Given the description of an element on the screen output the (x, y) to click on. 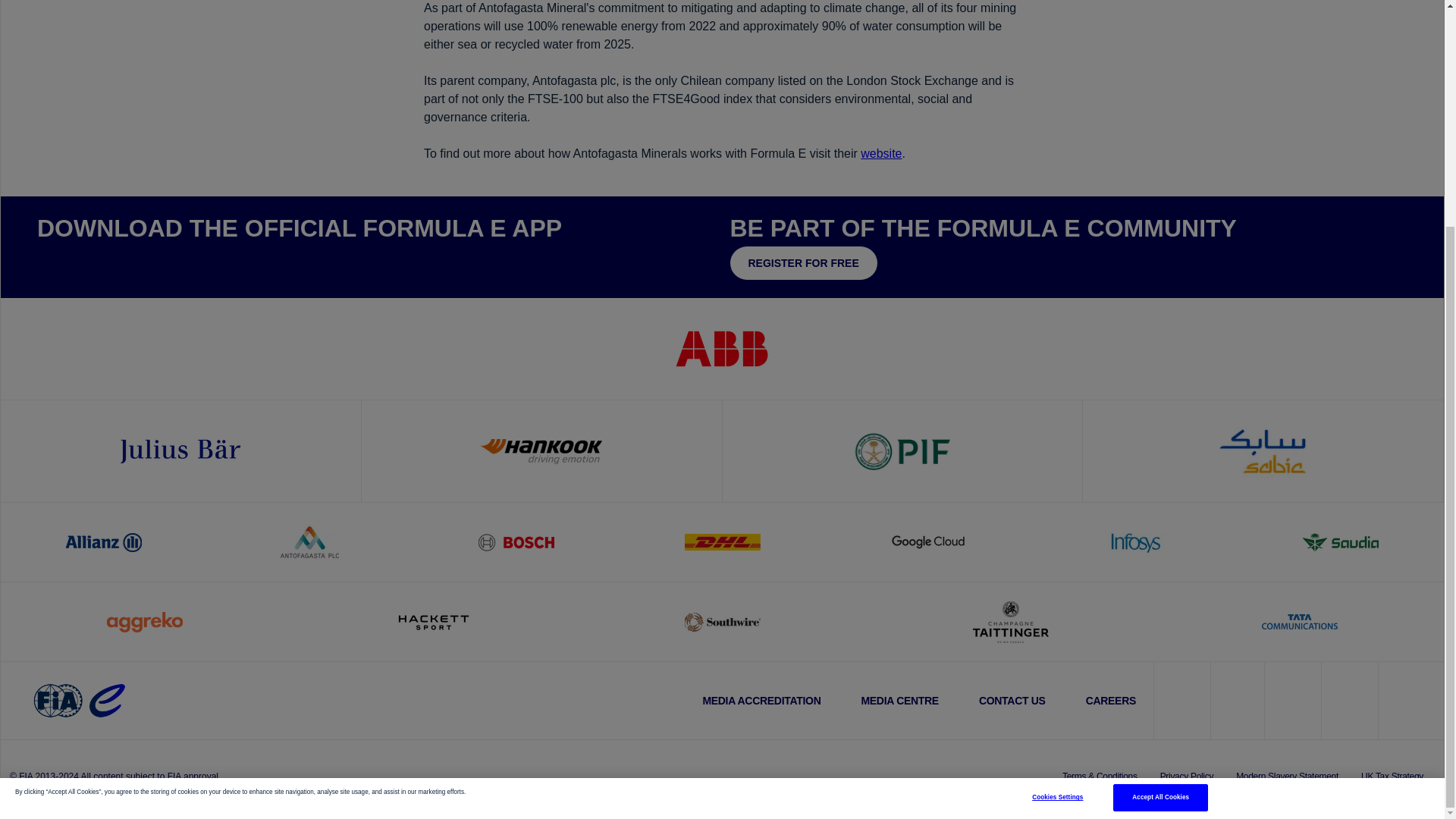
Public Investment Fund (902, 450)
Bosch (516, 541)
Technical Partner (541, 450)
Visit the App Store (81, 260)
Visit the Google Play Store (175, 260)
DHL (722, 541)
Allianz (103, 541)
Aggreko (144, 622)
Principal Partner (1263, 450)
Taittinger (1011, 622)
Antofagasta Minerals (309, 541)
Title Partner (721, 348)
Global Partner (180, 450)
Google Cloud (928, 541)
SAUDIA (1340, 541)
